Given the description of an element on the screen output the (x, y) to click on. 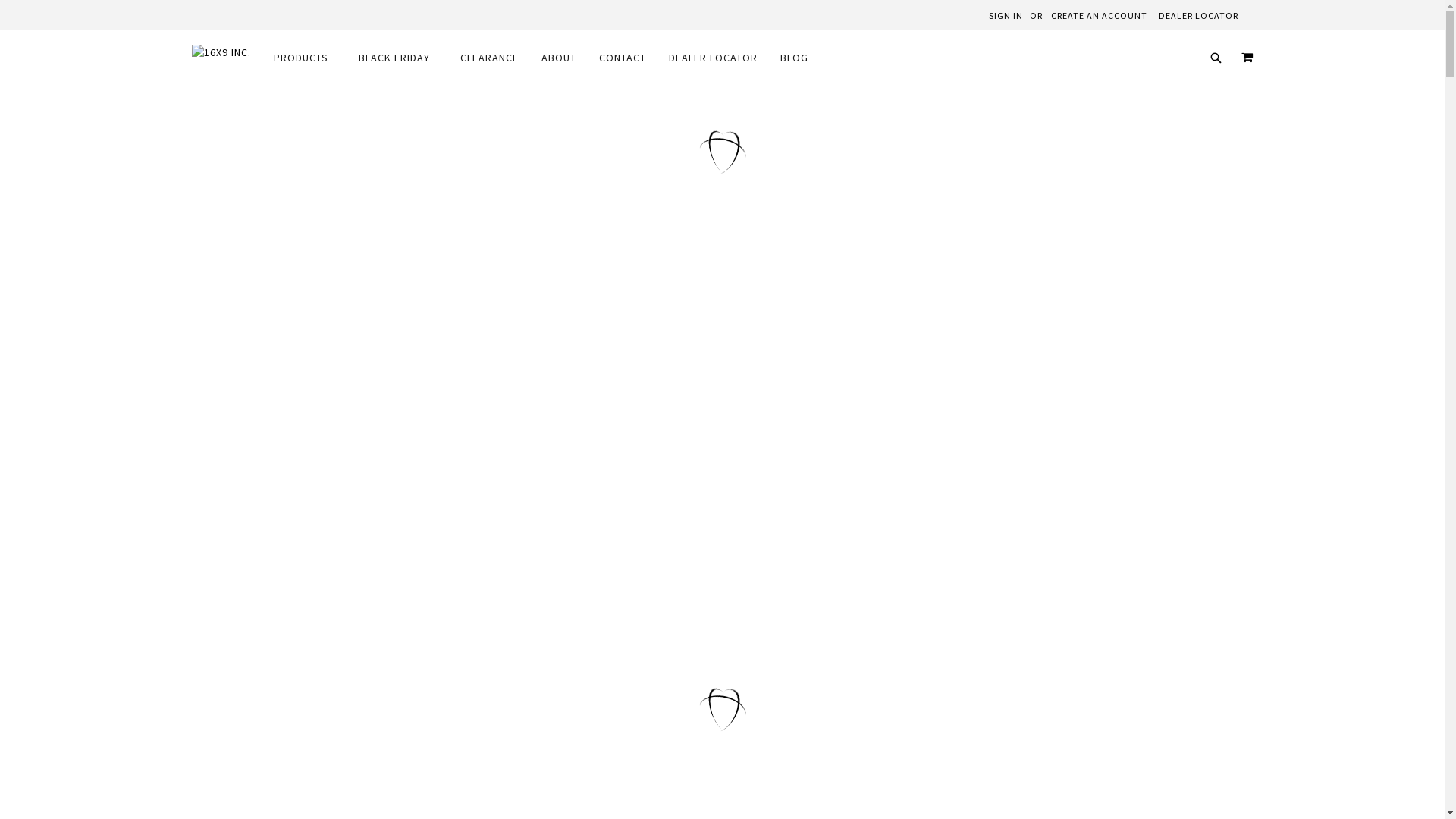
CREATE AN ACCOUNT Element type: text (1099, 15)
PRODUCTS Element type: text (307, 57)
CONTACT Element type: text (622, 57)
BLACK FRIDAY Element type: text (397, 57)
Easyrig logo Element type: hover (304, 452)
CLEARANCE Element type: text (488, 57)
SIGN IN Element type: text (1005, 15)
DEALER LOCATOR Element type: text (713, 57)
16x9 Inc. Element type: hover (220, 53)
ABOUT Element type: text (558, 57)
BLOG Element type: text (796, 57)
DEALER LOCATOR Element type: text (1198, 15)
MY CART Element type: text (1246, 56)
16x9 Logo Element type: hover (304, 297)
Flowcine Logo Element type: hover (304, 608)
